Given the description of an element on the screen output the (x, y) to click on. 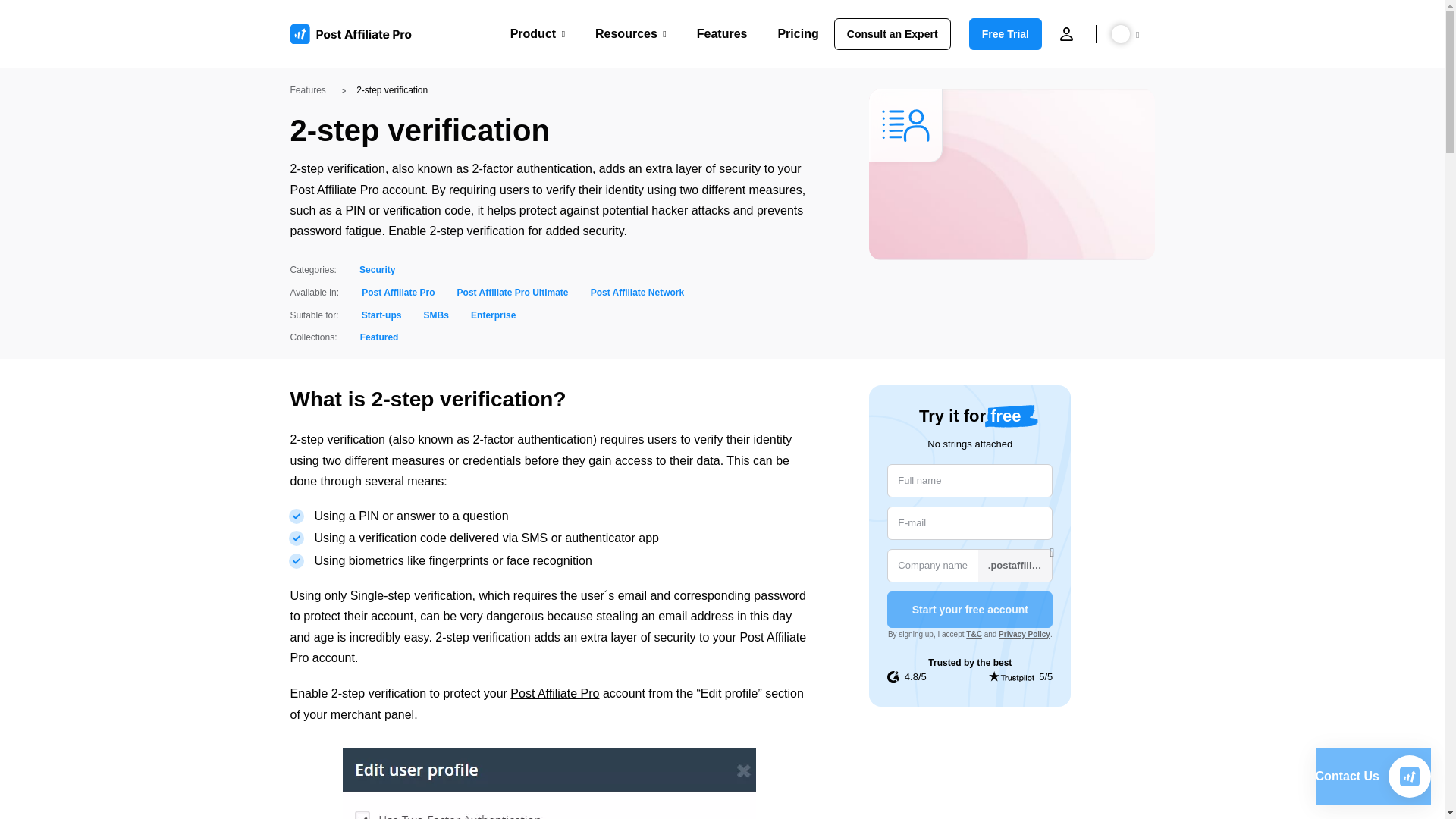
Features (722, 33)
Pricing (797, 33)
Product (537, 33)
PostAffiliatePro affiliate software (355, 34)
Resources (630, 33)
